Given the description of an element on the screen output the (x, y) to click on. 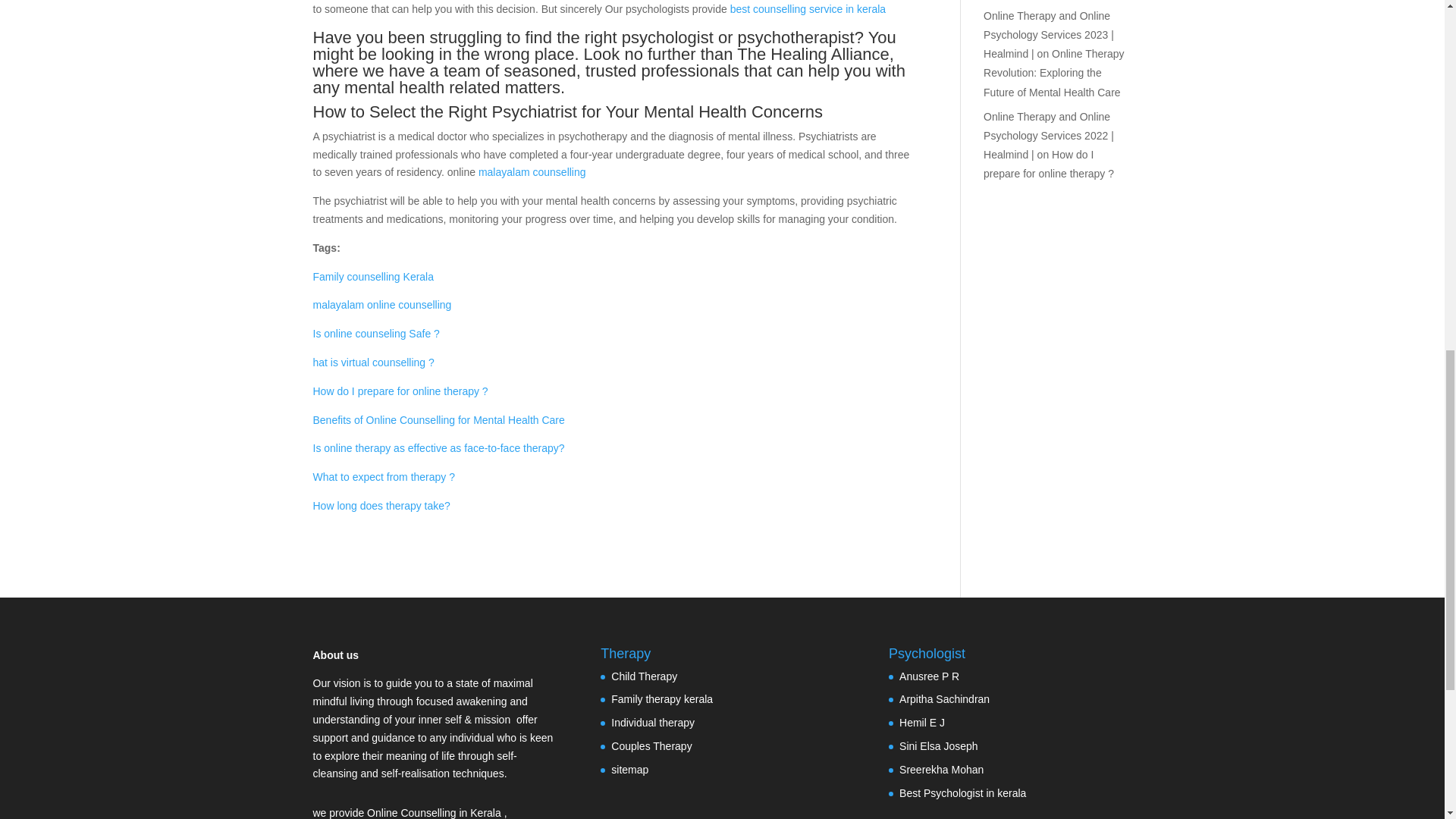
hat is virtual counselling ? (373, 362)
malayalam counselling (532, 172)
What to expect from therapy ? (383, 476)
best counselling service in kerala (807, 9)
How long does therapy take? (381, 505)
Family counselling Kerala (373, 276)
How do I prepare for online therapy ? (400, 390)
Is online counseling Safe ? (376, 333)
Is online therapy as effective as face-to-face therapy? (438, 448)
Benefits of Online Counselling for Mental Health Care (438, 419)
malayalam online counselling (382, 304)
